Given the description of an element on the screen output the (x, y) to click on. 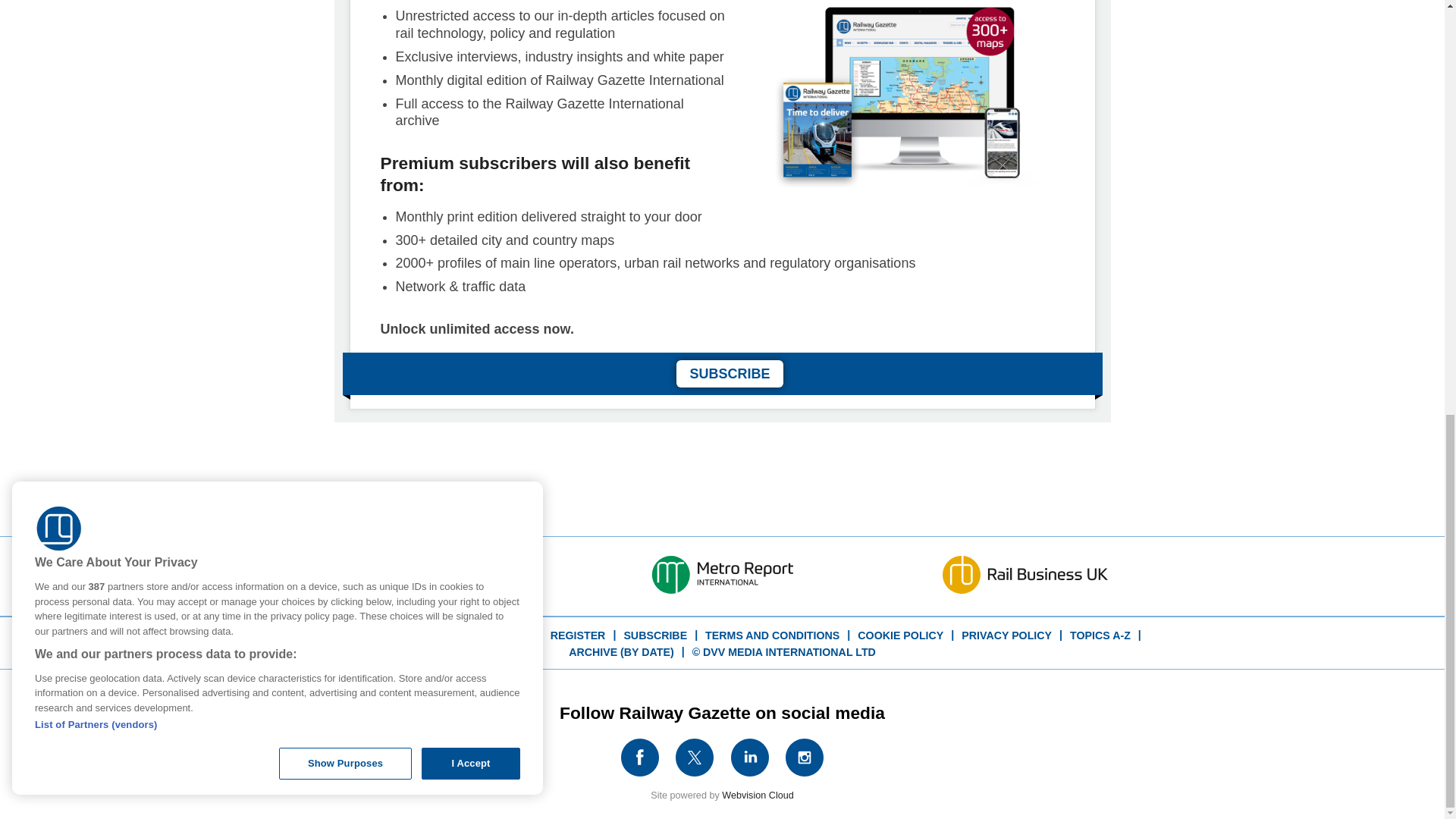
Connect with Railway Gazette on LinkedIn (750, 757)
Connect with Railway Gazette on Facebook (639, 757)
Follow Railway Gazette on Twitter (694, 757)
Connect with us on Instagram (804, 757)
